Given the description of an element on the screen output the (x, y) to click on. 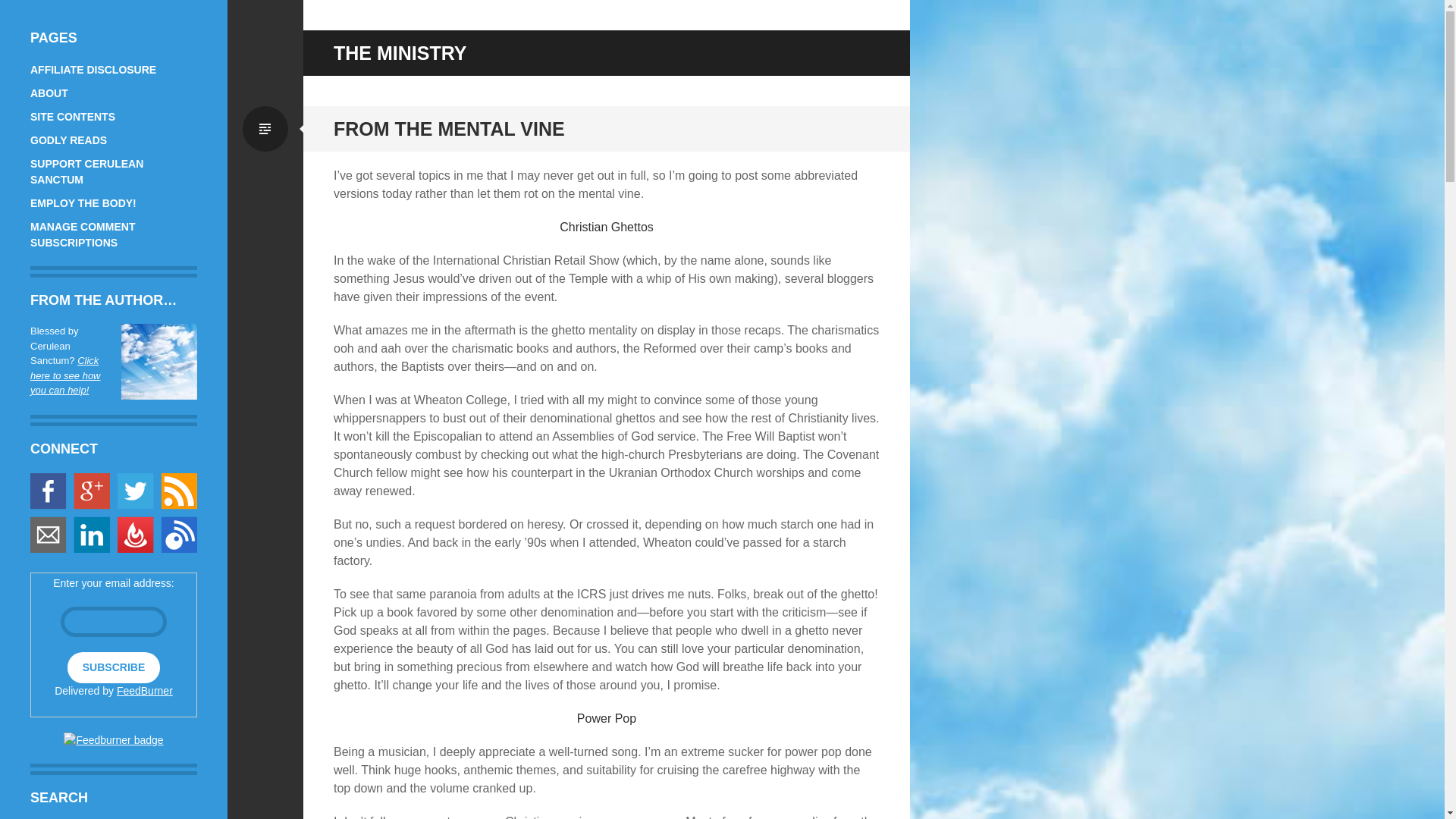
ABOUT (49, 92)
AFFILIATE DISCLOSURE (92, 69)
Subscribe (113, 667)
Subscribe (113, 667)
SUPPORT CERULEAN SANCTUM (86, 171)
Click here to see how you can help! (65, 374)
FeedBurner (144, 690)
MANAGE COMMENT SUBSCRIPTIONS (82, 234)
SITE CONTENTS (72, 116)
Thank you for supporting Cerulean Sanctum! (158, 361)
Support Cerulean Sanctum (65, 374)
GODLY READS (68, 140)
EMPLOY THE BODY! (83, 203)
